Given the description of an element on the screen output the (x, y) to click on. 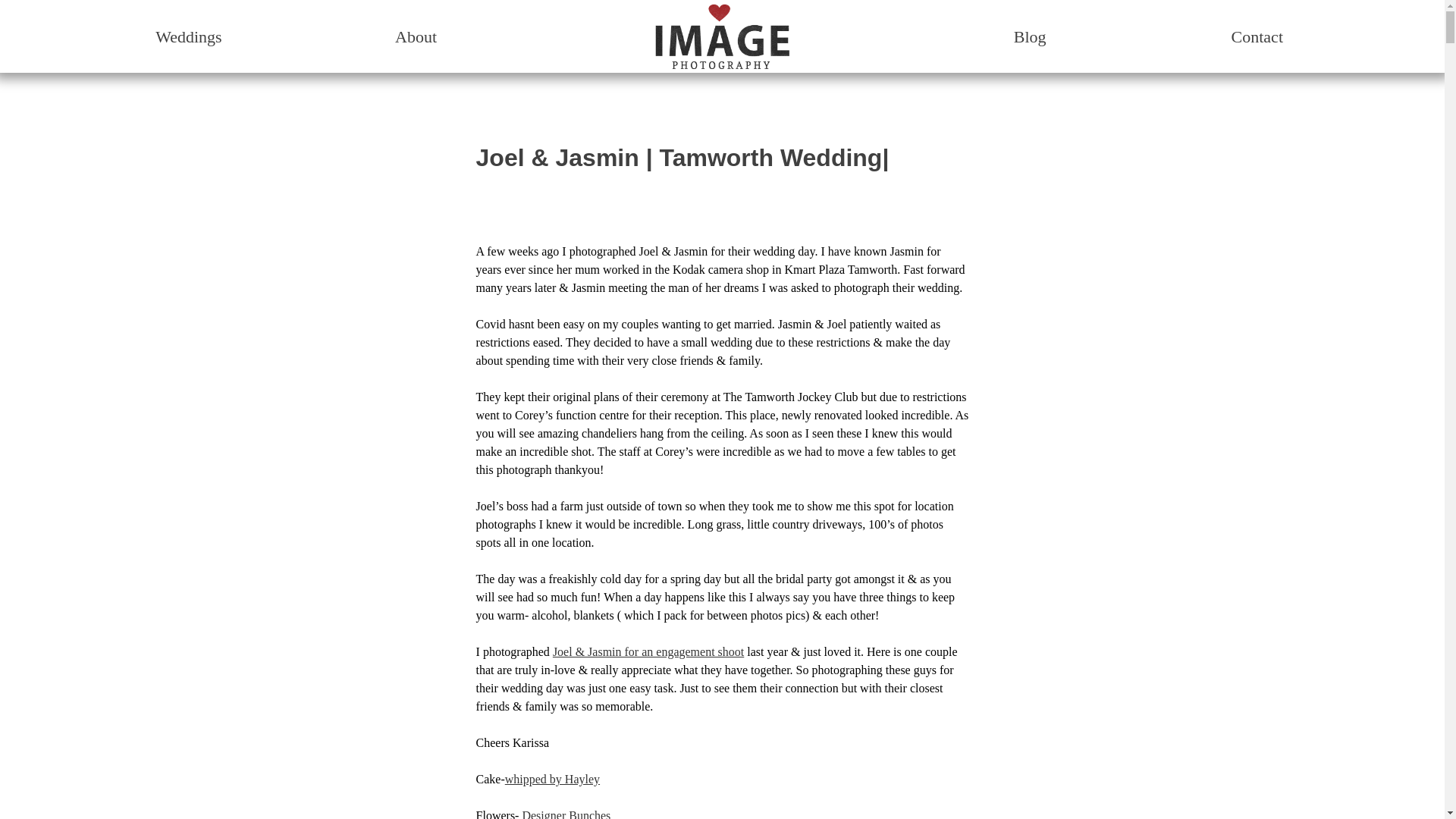
Contact (1256, 36)
whipped by Hayley (552, 779)
Designer Bunches (565, 814)
About (415, 36)
Blog (1029, 36)
Weddings (188, 36)
